Given the description of an element on the screen output the (x, y) to click on. 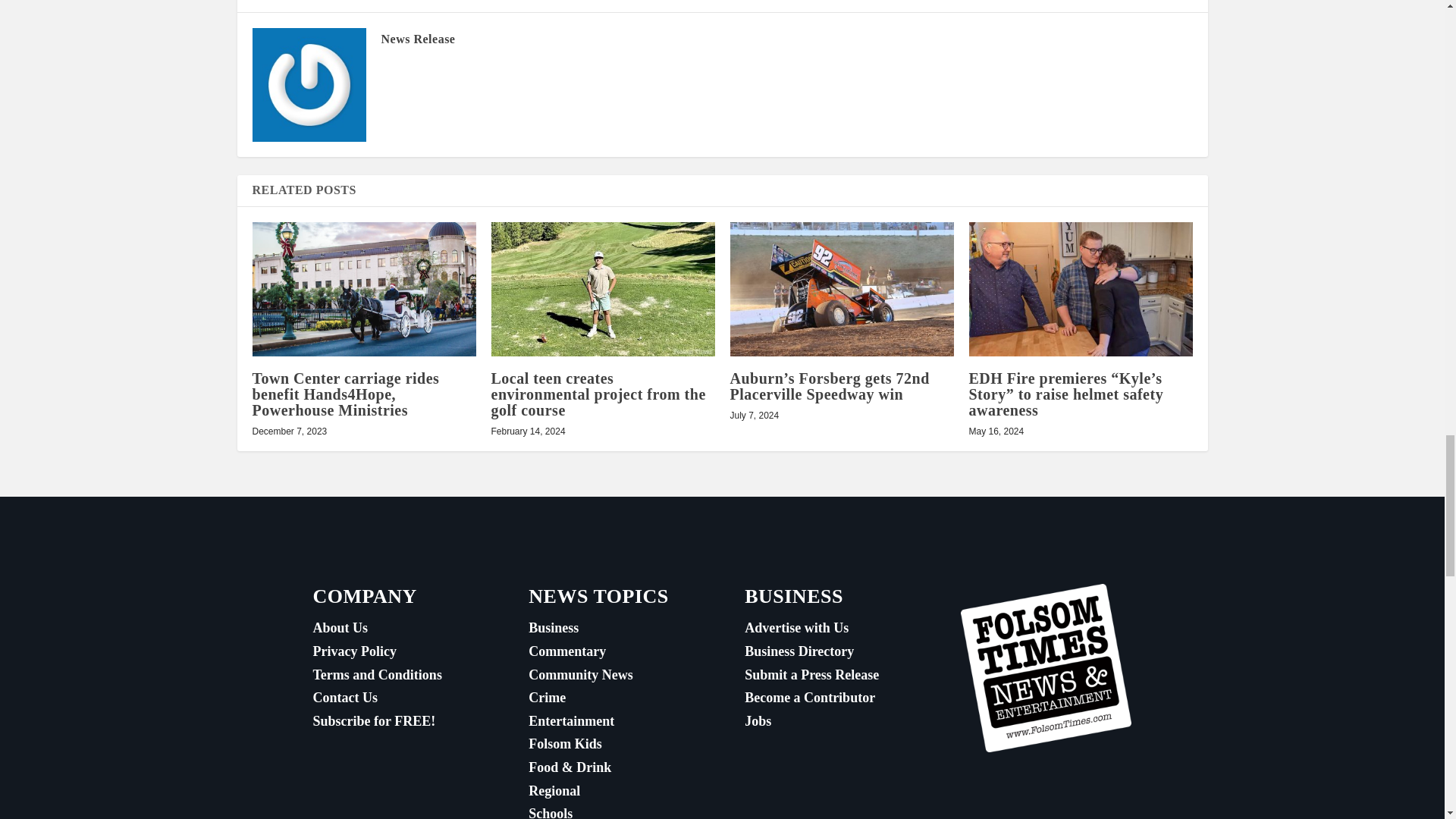
View all posts by News Release (417, 38)
